Given the description of an element on the screen output the (x, y) to click on. 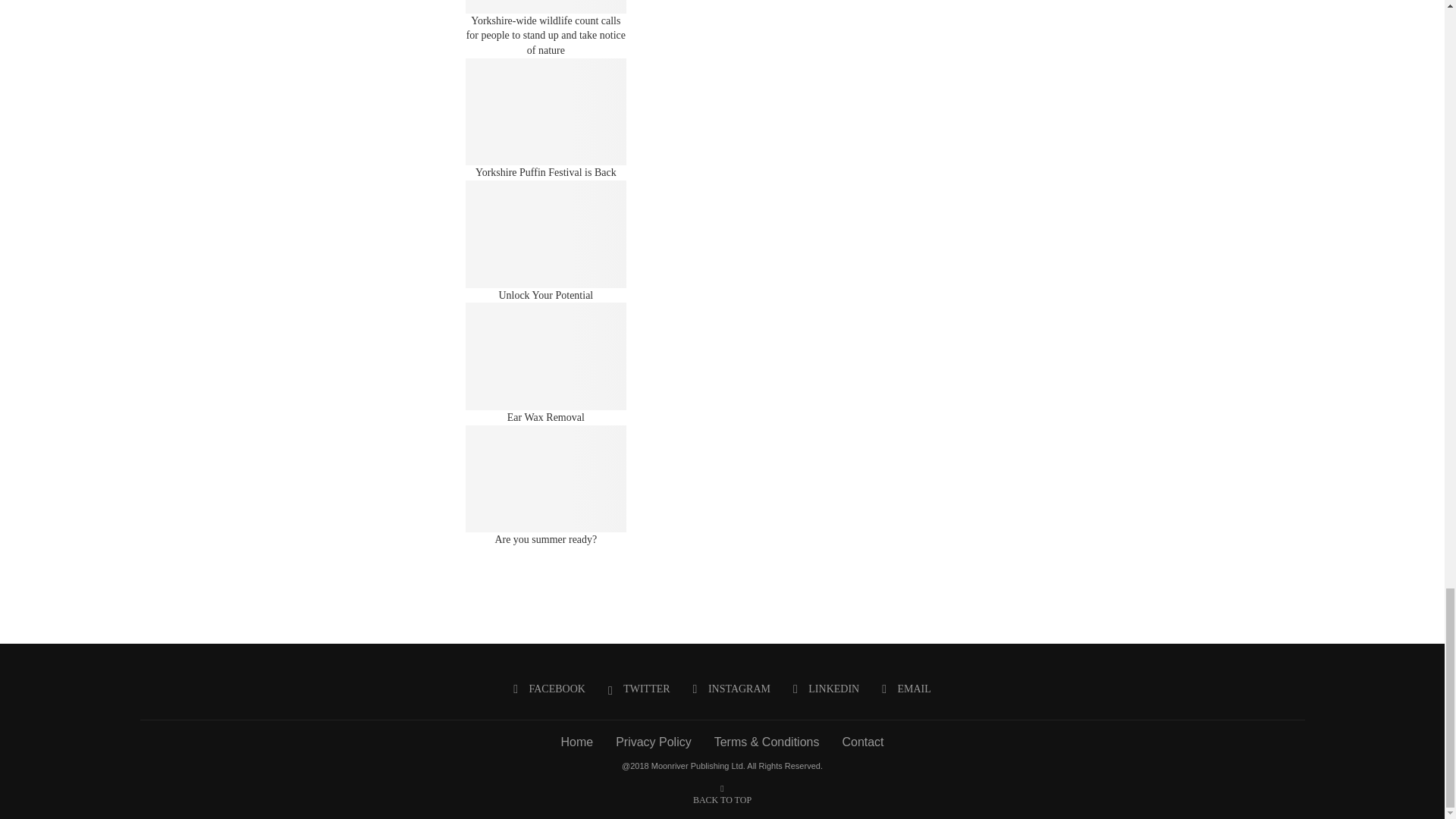
Unlock Your Potential (546, 234)
Yorkshire Puffin Festival is Back (546, 112)
Ear Wax Removal (546, 356)
Are you summer ready? (546, 479)
